Given the description of an element on the screen output the (x, y) to click on. 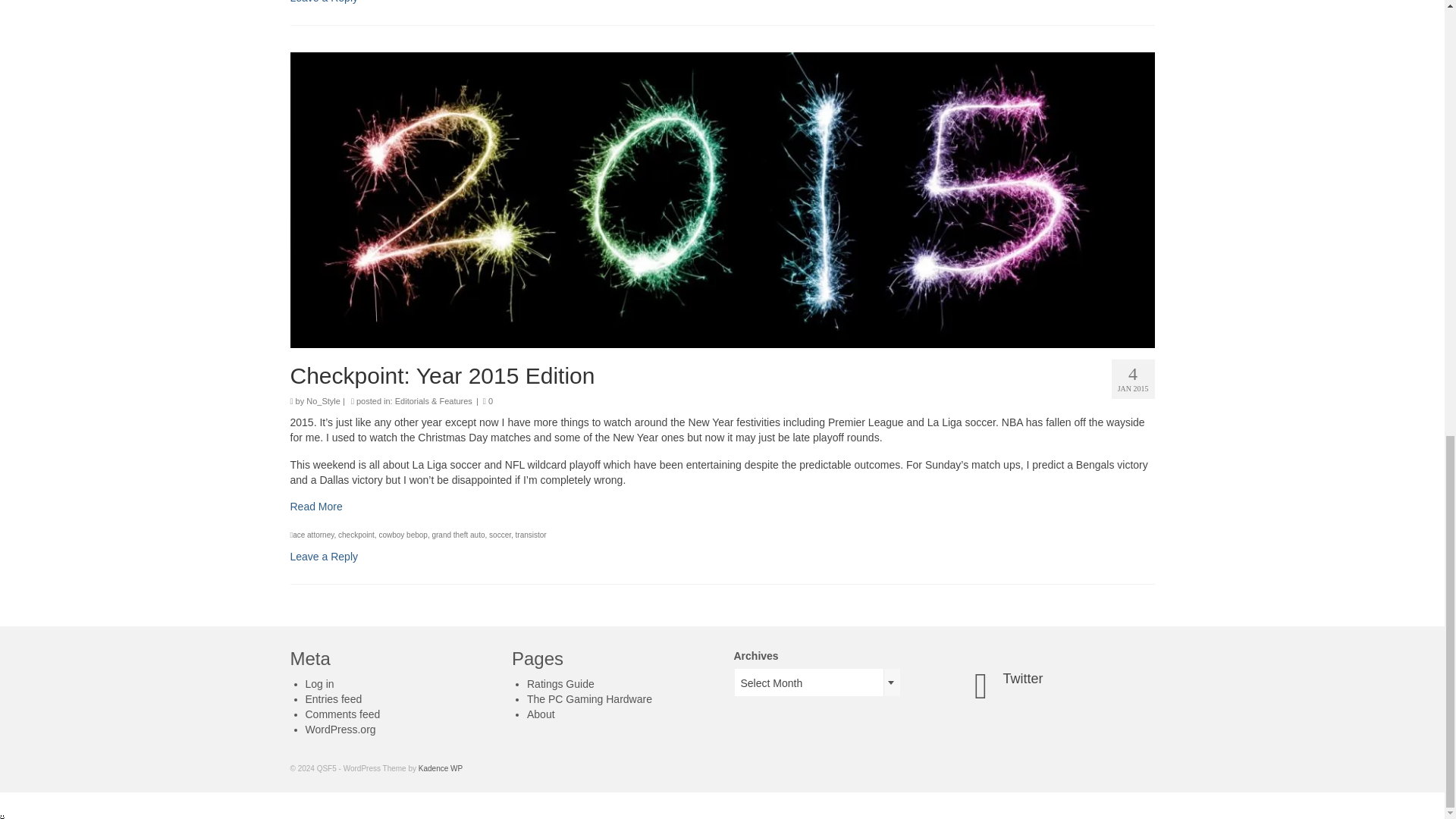
Select Month (816, 683)
Leave a Reply (323, 2)
Checkpoint: Year 2015 Edition (721, 375)
